Given the description of an element on the screen output the (x, y) to click on. 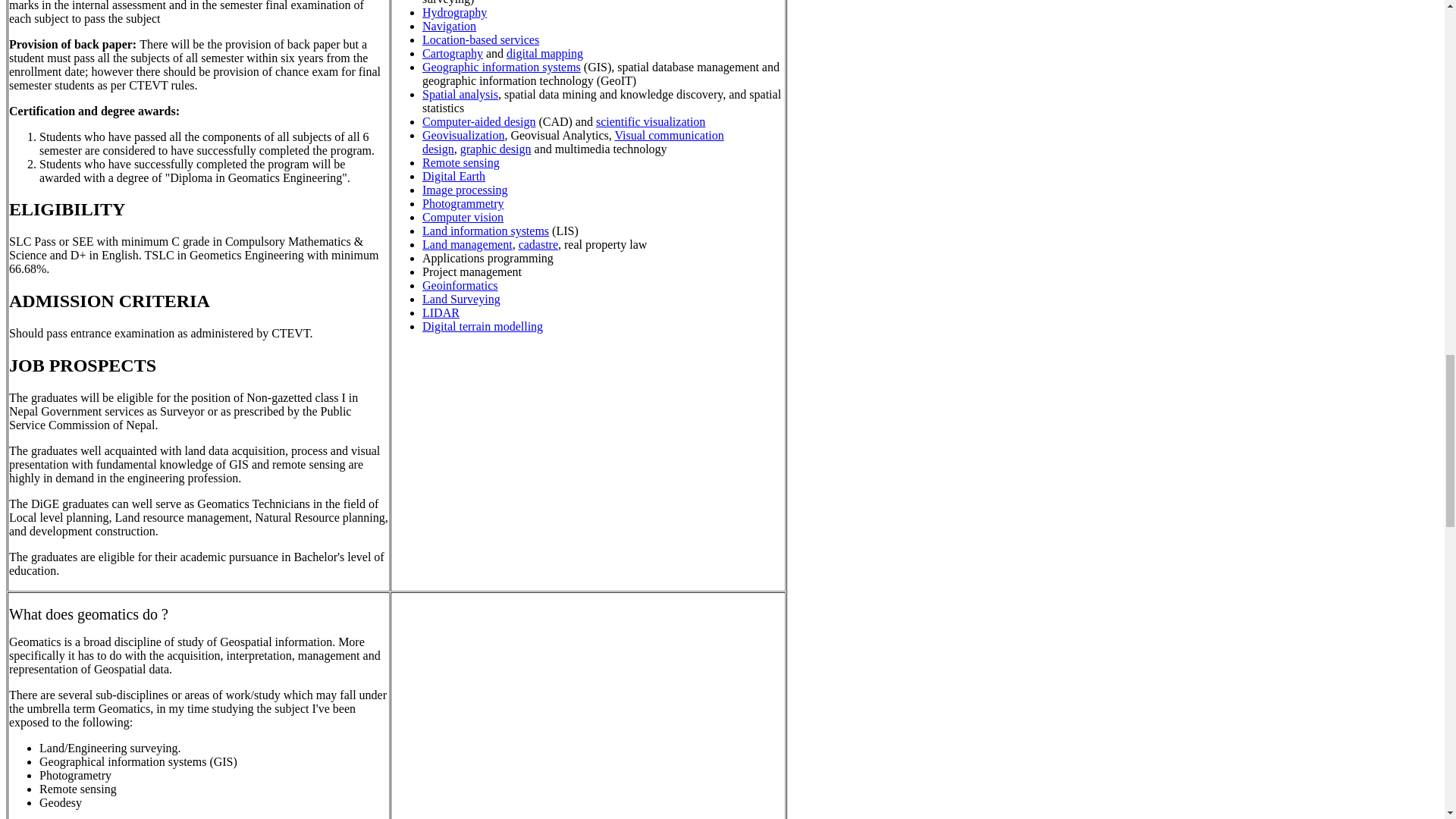
Spatial analysis (459, 93)
Scientific visualization (649, 121)
Digital Earth (453, 175)
Cartography (452, 52)
digital mapping (544, 52)
Location-based services (480, 39)
Digital mapping (544, 52)
Geovisualization (462, 134)
Hydrography (454, 11)
Navigation (449, 25)
